Given the description of an element on the screen output the (x, y) to click on. 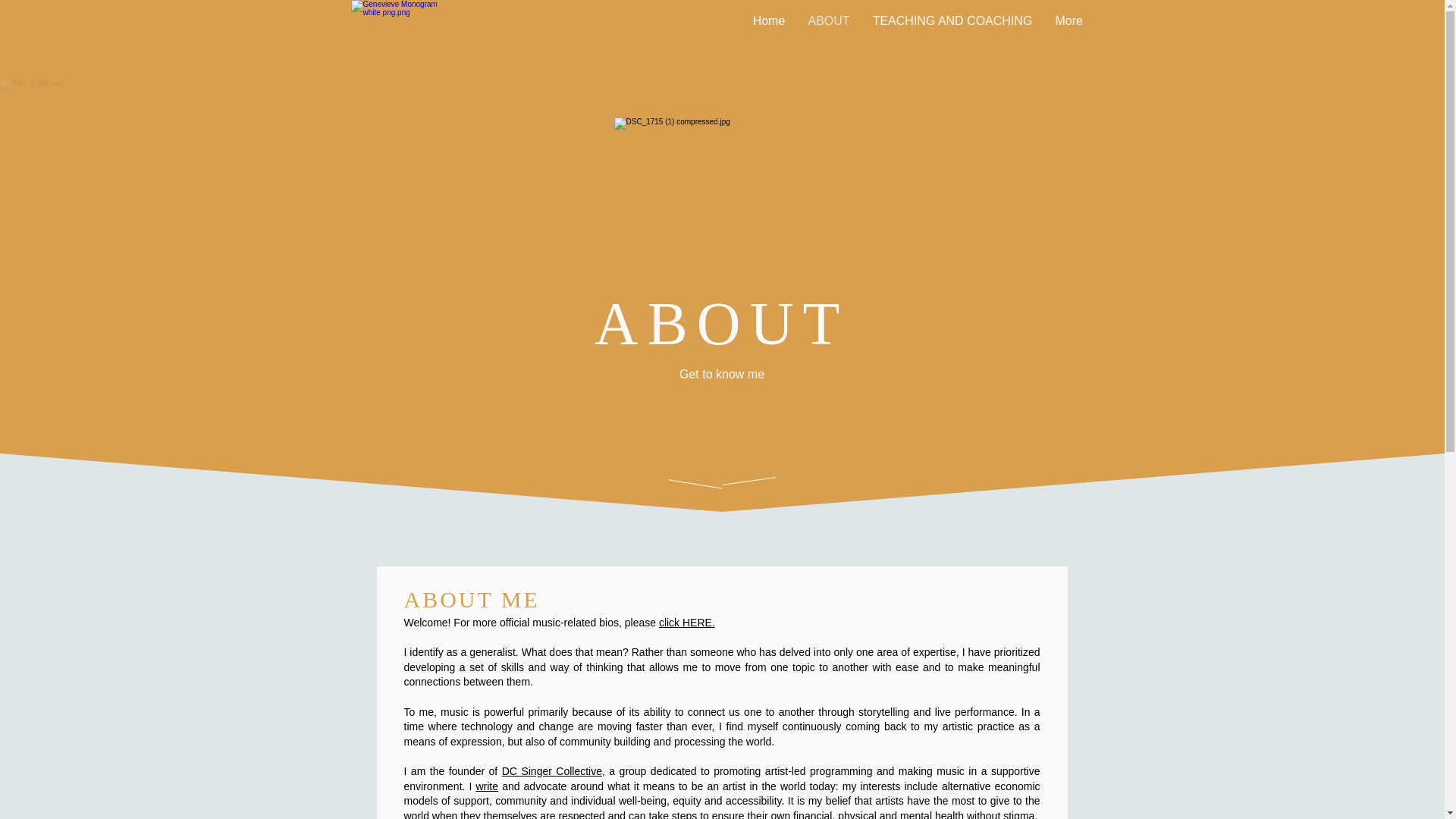
Genevieve monogram png.png (394, 38)
ABOUT (828, 20)
TEACHING AND COACHING (952, 20)
DC Singer Collective (552, 770)
write (486, 786)
Home (768, 20)
click HERE. (686, 622)
